Given the description of an element on the screen output the (x, y) to click on. 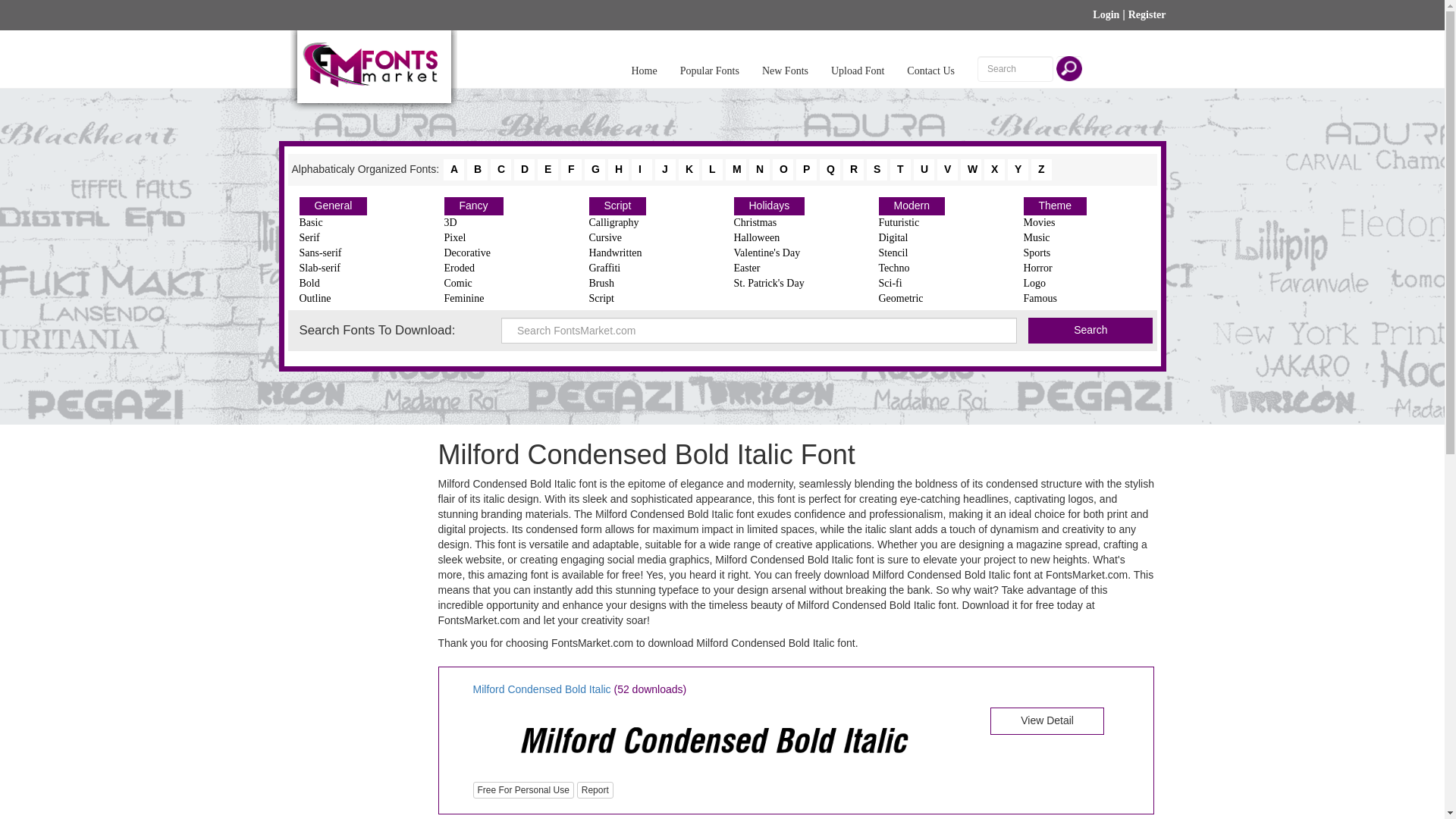
Register (1147, 14)
G (595, 169)
Q (829, 169)
T (900, 169)
Free For Personal Use (523, 790)
B (477, 169)
Y (1017, 169)
Home (644, 58)
L (711, 169)
H (618, 169)
C (500, 169)
Z (1040, 169)
Search (1090, 330)
Serif (359, 237)
Basic (359, 222)
